Given the description of an element on the screen output the (x, y) to click on. 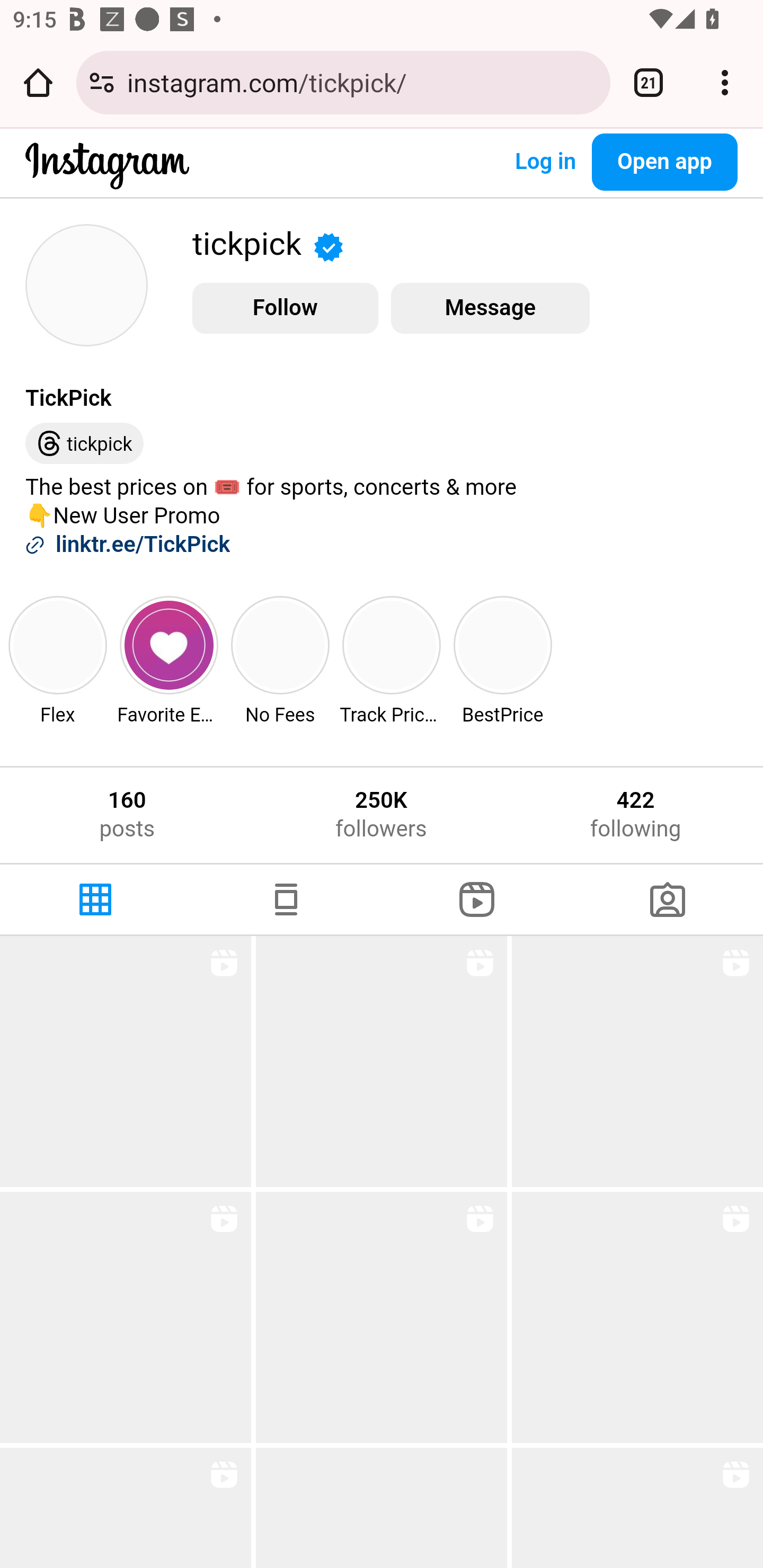
Open the home page (38, 82)
Connection is secure (101, 82)
Switch or close tabs (648, 82)
Customize and control Google Chrome (724, 82)
instagram.com/tickpick/ (362, 82)
Log in (544, 162)
Open app (664, 162)
Instagram Instagram Instagram Instagram (107, 179)
tickpick's profile picture (86, 285)
Follow (285, 307)
Message (489, 307)
Threads tickpick Threads tickpick (84, 443)
linktr.ee/TickPick (142, 545)
Flex's profile picture (57, 644)
Favorite Events's profile picture (168, 644)
No Fees's profile picture (280, 644)
Track Prices's profile picture (391, 644)
BestPrice's profile picture (502, 644)
160 posts (126, 815)
250K followers (380, 815)
422 following (635, 815)
Posts (95, 898)
Feed (285, 898)
Reels (476, 898)
Tagged (667, 898)
